Given the description of an element on the screen output the (x, y) to click on. 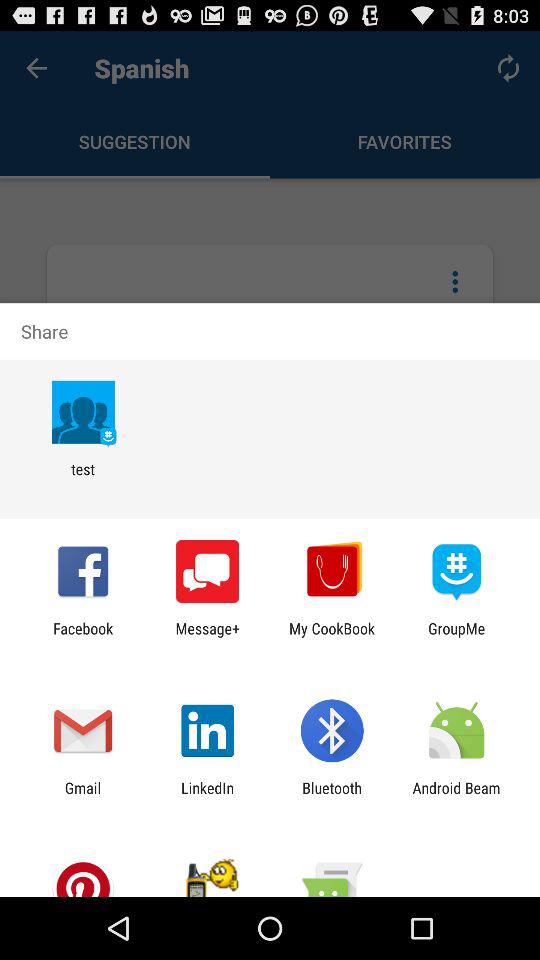
select the app next to my cookbook item (207, 637)
